Given the description of an element on the screen output the (x, y) to click on. 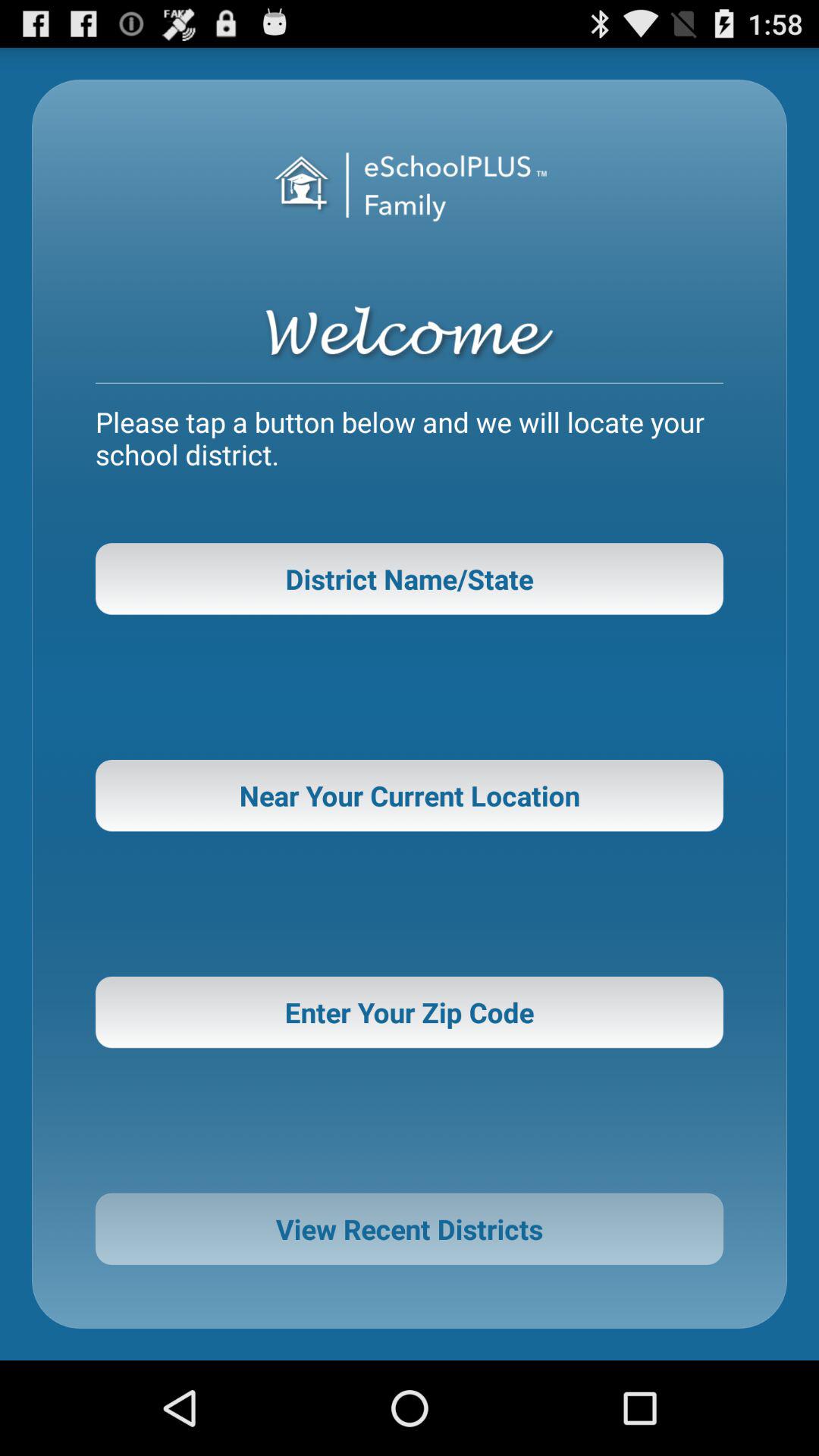
choose icon below enter your zip button (409, 1228)
